Given the description of an element on the screen output the (x, y) to click on. 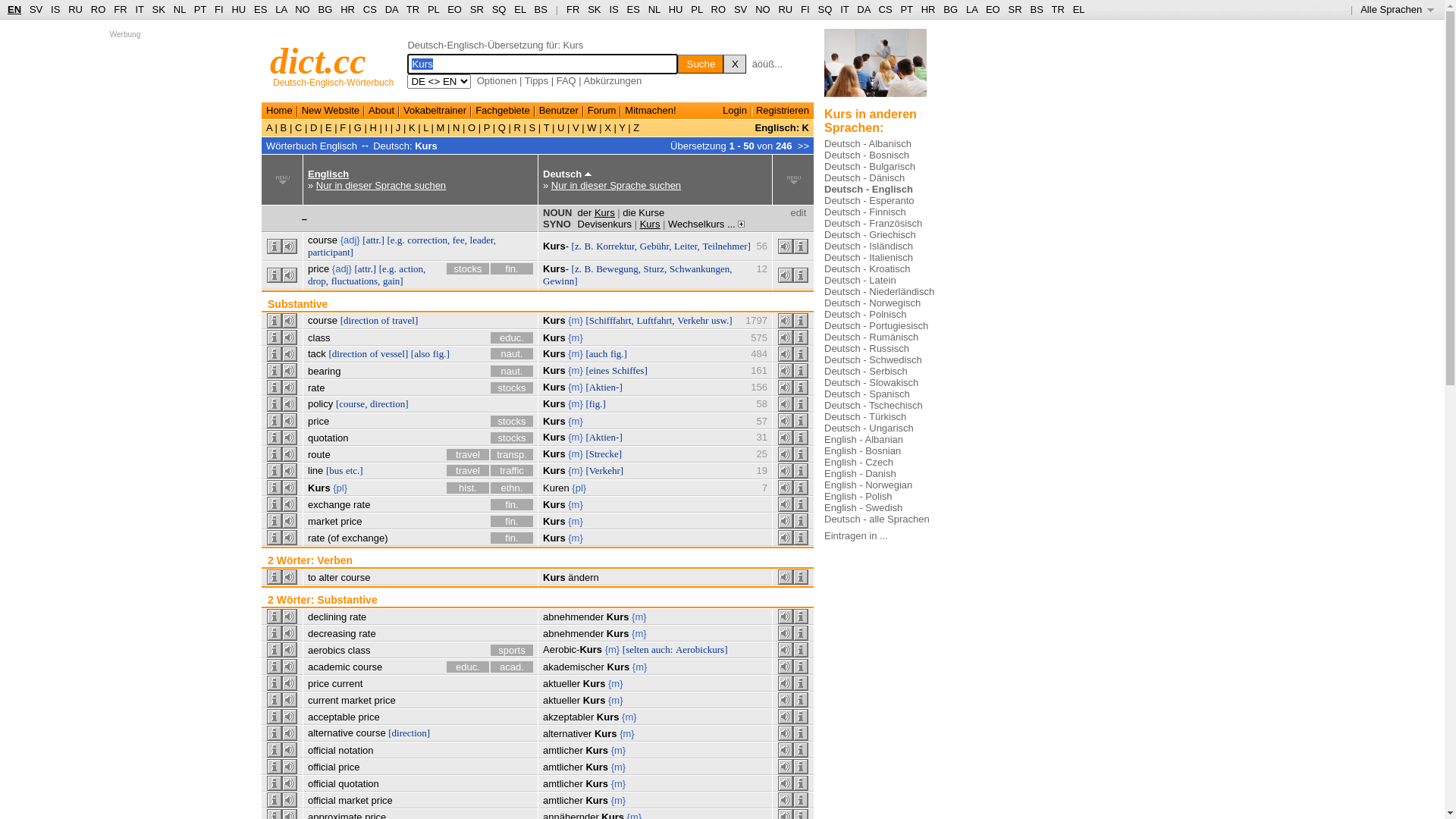
SV Element type: text (35, 9)
LA Element type: text (280, 9)
M Element type: text (440, 127)
Schiffes] Element type: text (629, 370)
gain] Element type: text (392, 280)
of Element type: text (385, 320)
market Element type: text (322, 521)
Deutsch - Esperanto Element type: text (869, 200)
price Element type: text (368, 716)
RU Element type: text (75, 9)
N Element type: text (455, 127)
fig.] Element type: text (618, 353)
Deutsch - Polnisch Element type: text (865, 314)
Deutsch - alle Sprachen Element type: text (876, 518)
acad. Element type: text (511, 666)
teacher on whiteboard in class... Element type: hover (875, 68)
price Element type: text (348, 766)
academic Element type: text (328, 666)
Benutzer Element type: text (558, 110)
Kurs Element type: text (553, 420)
Q Element type: text (501, 127)
declining Element type: text (326, 616)
Kurs Element type: text (596, 783)
LA Element type: text (971, 9)
C Element type: text (297, 127)
price Element type: text (318, 268)
HR Element type: text (347, 9)
Kurs- Element type: text (555, 268)
price Element type: text (350, 521)
alter Element type: text (327, 577)
Registrieren Element type: text (782, 110)
TR Element type: text (412, 9)
aktueller Element type: text (561, 683)
rate Element type: text (361, 504)
English - Swedish Element type: text (863, 507)
IT Element type: text (138, 9)
Sturz, Element type: text (655, 268)
Deutsch - Finnisch Element type: text (865, 211)
Kurs Element type: text (553, 320)
price Element type: text (381, 800)
X Element type: text (734, 63)
SR Element type: text (1015, 9)
transp. Element type: text (511, 454)
Fachgebiete Element type: text (502, 110)
rate Element type: text (315, 387)
Deutsch - Italienisch Element type: text (868, 257)
current Element type: text (322, 700)
rate Element type: text (315, 537)
Englisch Element type: text (327, 173)
>> Element type: text (803, 144)
[course, Element type: text (351, 403)
NO Element type: text (302, 9)
DA Element type: text (391, 9)
Deutsch - Ungarisch Element type: text (868, 427)
Kurs Element type: text (617, 616)
L Element type: text (425, 127)
Deutsch - Slowakisch Element type: text (871, 382)
Kurs Element type: text (553, 353)
Deutsch - Norwegisch Element type: text (872, 302)
SQ Element type: text (499, 9)
English - Polish Element type: text (858, 496)
IT Element type: text (844, 9)
RO Element type: text (98, 9)
FI Element type: text (804, 9)
price Element type: text (384, 700)
Bewegung, Element type: text (618, 268)
exchange Element type: text (328, 504)
action, Element type: text (411, 268)
EN Element type: text (14, 9)
course Element type: text (322, 239)
ES Element type: text (260, 9)
Deutsch - Portugiesisch Element type: text (876, 325)
About Element type: text (381, 110)
English - Danish Element type: text (860, 473)
Login Element type: text (734, 110)
course Element type: text (367, 666)
B. Element type: text (588, 268)
PL Element type: text (696, 9)
class Element type: text (359, 649)
Kurs Element type: text (596, 800)
Kurs Element type: text (553, 504)
SQ Element type: text (824, 9)
...  Element type: text (735, 223)
[also Element type: text (420, 353)
SK Element type: text (158, 9)
EL Element type: text (1079, 9)
BG Element type: text (325, 9)
Kurs Element type: text (425, 145)
Optionen Element type: text (496, 80)
RO Element type: text (718, 9)
Kurs Element type: text (553, 537)
[Aktien-] Element type: text (603, 386)
direction] Element type: text (389, 403)
Alle Sprachen  Element type: text (1397, 9)
Kurs Element type: text (553, 436)
abnehmender Element type: text (572, 616)
amtlicher Element type: text (562, 800)
der Kurs Element type: text (596, 212)
SR Element type: text (476, 9)
fee, Element type: text (459, 239)
amtlicher Element type: text (562, 750)
F Element type: text (342, 127)
course Element type: text (370, 732)
Kuren Element type: text (555, 487)
English - Norwegian Element type: text (868, 484)
participant] Element type: text (330, 251)
Deutsch - Russisch Element type: text (866, 348)
Kurs Element type: text (607, 716)
educ. Element type: text (511, 337)
[direction Element type: text (359, 320)
current Element type: text (347, 683)
abnehmender Element type: text (572, 633)
Y Element type: text (621, 127)
K Element type: text (411, 127)
[direction Element type: text (347, 353)
[e.g. Element type: text (395, 239)
fin. Element type: text (511, 504)
D Element type: text (313, 127)
[attr.] Element type: text (365, 268)
line Element type: text (315, 470)
Eintragen in ... Element type: text (856, 534)
dict.cc Element type: text (317, 60)
[bus Element type: text (334, 470)
Korrektur, Element type: text (616, 245)
New Website Element type: text (330, 110)
Kurs Element type: text (618, 666)
Leiter, Element type: text (686, 245)
Kurs Element type: text (617, 633)
J Element type: text (397, 127)
Deutsch - Albanisch Element type: text (867, 143)
IS Element type: text (613, 9)
NL Element type: text (179, 9)
stocks Element type: text (511, 387)
BG Element type: text (950, 9)
[Strecke] Element type: text (603, 453)
FR Element type: text (572, 9)
R Element type: text (517, 127)
Kurs Element type: text (594, 700)
CS Element type: text (884, 9)
official Element type: text (321, 766)
fin. Element type: text (511, 537)
Schwankungen, Element type: text (700, 268)
Kurs Element type: text (553, 370)
SV Element type: text (740, 9)
English - Czech Element type: text (858, 461)
sports Element type: text (511, 649)
Nur in dieser Sprache suchen Element type: text (615, 185)
Verkehr Element type: text (692, 320)
NL Element type: text (654, 9)
market Element type: text (356, 700)
official Element type: text (321, 800)
edit Element type: text (798, 212)
[z. Element type: text (576, 245)
HR Element type: text (928, 9)
H Element type: text (373, 127)
rate Element type: text (357, 616)
stocks Element type: text (467, 268)
IS Element type: text (54, 9)
Kurs- Element type: text (555, 245)
Aerobic-Kurs Element type: text (572, 649)
Kurs Element type: text (553, 403)
E Element type: text (328, 127)
W Element type: text (591, 127)
[z. Element type: text (576, 268)
alternative Element type: text (330, 732)
traffic Element type: text (511, 470)
[selten Element type: text (635, 649)
A Element type: text (270, 127)
fig.] Element type: text (441, 353)
naut. Element type: text (511, 353)
aktueller Element type: text (561, 700)
Suche Element type: text (700, 63)
Tipps Element type: text (536, 80)
NO Element type: text (762, 9)
decreasing Element type: text (331, 633)
U Element type: text (560, 127)
Deutsch - Tschechisch Element type: text (873, 405)
BS Element type: text (1035, 9)
correction, Element type: text (428, 239)
DA Element type: text (862, 9)
HU Element type: text (675, 9)
RU Element type: text (785, 9)
exchange) Element type: text (365, 537)
drop, Element type: text (317, 280)
fluctuations, Element type: text (355, 280)
Kurs Element type: text (553, 577)
Englisch: K Element type: text (781, 127)
[attr.] Element type: text (373, 239)
rate Element type: text (366, 633)
Deutsch - Schwedisch Element type: text (873, 359)
P Element type: text (486, 127)
official Element type: text (321, 783)
bearing Element type: text (323, 370)
B Element type: text (283, 127)
market Element type: text (353, 800)
Vokabeltrainer Element type: text (434, 110)
of Element type: text (374, 353)
ethn. Element type: text (511, 487)
alternativer Element type: text (566, 733)
Kurs Element type: text (605, 733)
B. Element type: text (588, 245)
Mitmachen! Element type: text (649, 110)
quotation Element type: text (327, 437)
usw.] Element type: text (721, 320)
S Element type: text (532, 127)
EO Element type: text (454, 9)
SK Element type: text (593, 9)
X Element type: text (608, 127)
English - Albanian Element type: text (863, 439)
FAQ Element type: text (566, 80)
ES Element type: text (633, 9)
Nur in dieser Sprache suchen Element type: text (380, 185)
travel Element type: text (467, 454)
course Element type: text (355, 577)
Deutsch - Griechisch Element type: text (870, 234)
I Element type: text (386, 127)
Gewinn] Element type: text (559, 280)
[fig.] Element type: text (595, 403)
leader, Element type: text (482, 239)
akademischer Element type: text (573, 666)
G Element type: text (357, 127)
Deutsch - Englisch Element type: text (868, 188)
quotation Element type: text (358, 783)
FI Element type: text (218, 9)
(of Element type: text (332, 537)
PT Element type: text (906, 9)
travel Element type: text (467, 470)
Deutsch - Bosnisch Element type: text (866, 154)
[eines Element type: text (596, 370)
naut. Element type: text (511, 370)
Forum Element type: text (601, 110)
course Element type: text (322, 320)
Deutsch - Spanisch Element type: text (867, 393)
Kurs Element type: text (318, 487)
Kurs Element type: text (650, 223)
Teilnehmer] Element type: text (725, 245)
[direction] Element type: text (408, 732)
Kurs Element type: text (553, 470)
amtlicher Element type: text (562, 766)
die Kurse Element type: text (643, 212)
auch: Element type: text (661, 649)
Deutsch - Bulgarisch Element type: text (869, 166)
Aerobickurs] Element type: text (701, 649)
stocks Element type: text (511, 437)
tack Element type: text (316, 353)
HU Element type: text (238, 9)
amtlicher Element type: text (562, 783)
route Element type: text (318, 454)
fin. Element type: text (511, 268)
Home Element type: text (279, 110)
[Aktien-] Element type: text (603, 436)
[e.g. Element type: text (387, 268)
hist. Element type: text (467, 487)
policy Element type: text (319, 403)
price Element type: text (318, 683)
Kurs Element type: text (596, 750)
Luftfahrt, Element type: text (655, 320)
Kurs Element type: text (553, 453)
Kurs Element type: text (594, 683)
Kurs Element type: text (553, 521)
[Schifffahrt, Element type: text (609, 320)
Kurs Element type: text (596, 766)
CS Element type: text (369, 9)
Kurs Element type: text (553, 386)
vessel] Element type: text (393, 353)
Deutsch - Latein Element type: text (860, 279)
Deutsch - Serbisch Element type: text (865, 370)
notation Element type: text (355, 750)
Z Element type: text (635, 127)
price Element type: text (318, 420)
PT Element type: text (200, 9)
[Verkehr] Element type: text (604, 470)
FR Element type: text (119, 9)
class Element type: text (318, 337)
educ. Element type: text (467, 666)
PL Element type: text (433, 9)
TR Element type: text (1057, 9)
V Element type: text (575, 127)
Wechselkurs Element type: text (696, 223)
official Element type: text (321, 750)
[auch Element type: text (596, 353)
stocks Element type: text (511, 420)
Deutsch - Kroatisch Element type: text (867, 268)
etc.] Element type: text (354, 470)
aerobics Element type: text (326, 649)
EL Element type: text (519, 9)
O Element type: text (470, 127)
Devisenkurs Element type: text (604, 223)
English - Bosnian Element type: text (862, 450)
BS Element type: text (540, 9)
Kurs Element type: text (553, 337)
EO Element type: text (992, 9)
T Element type: text (546, 127)
fin. Element type: text (511, 521)
travel] Element type: text (404, 320)
acceptable Element type: text (331, 716)
akzeptabler Element type: text (567, 716)
